Given the description of an element on the screen output the (x, y) to click on. 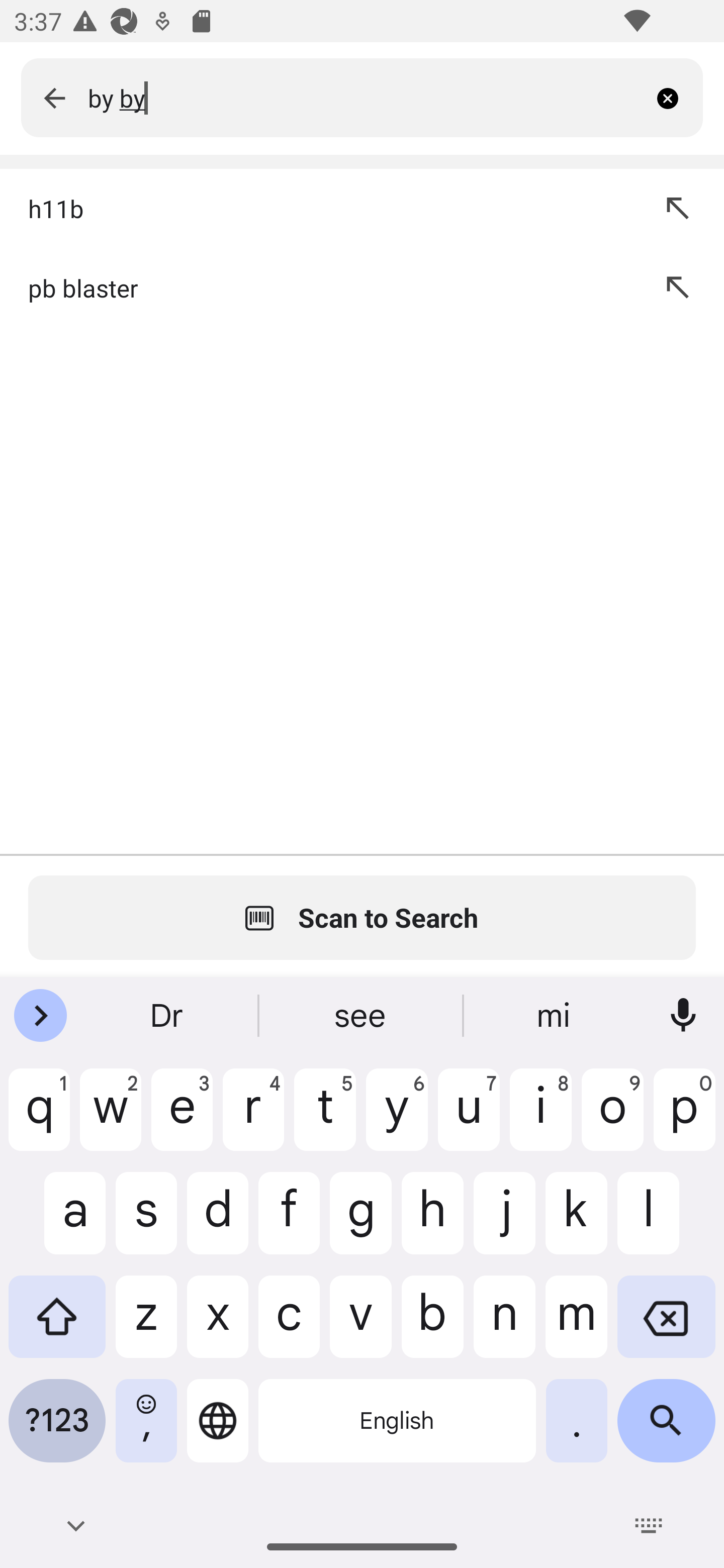
 (54, 97)
by by Text input field (367, 97)
Clear search bar text  (674, 97)
h11b (322, 208)
pb blaster (322, 287)
